Given the description of an element on the screen output the (x, y) to click on. 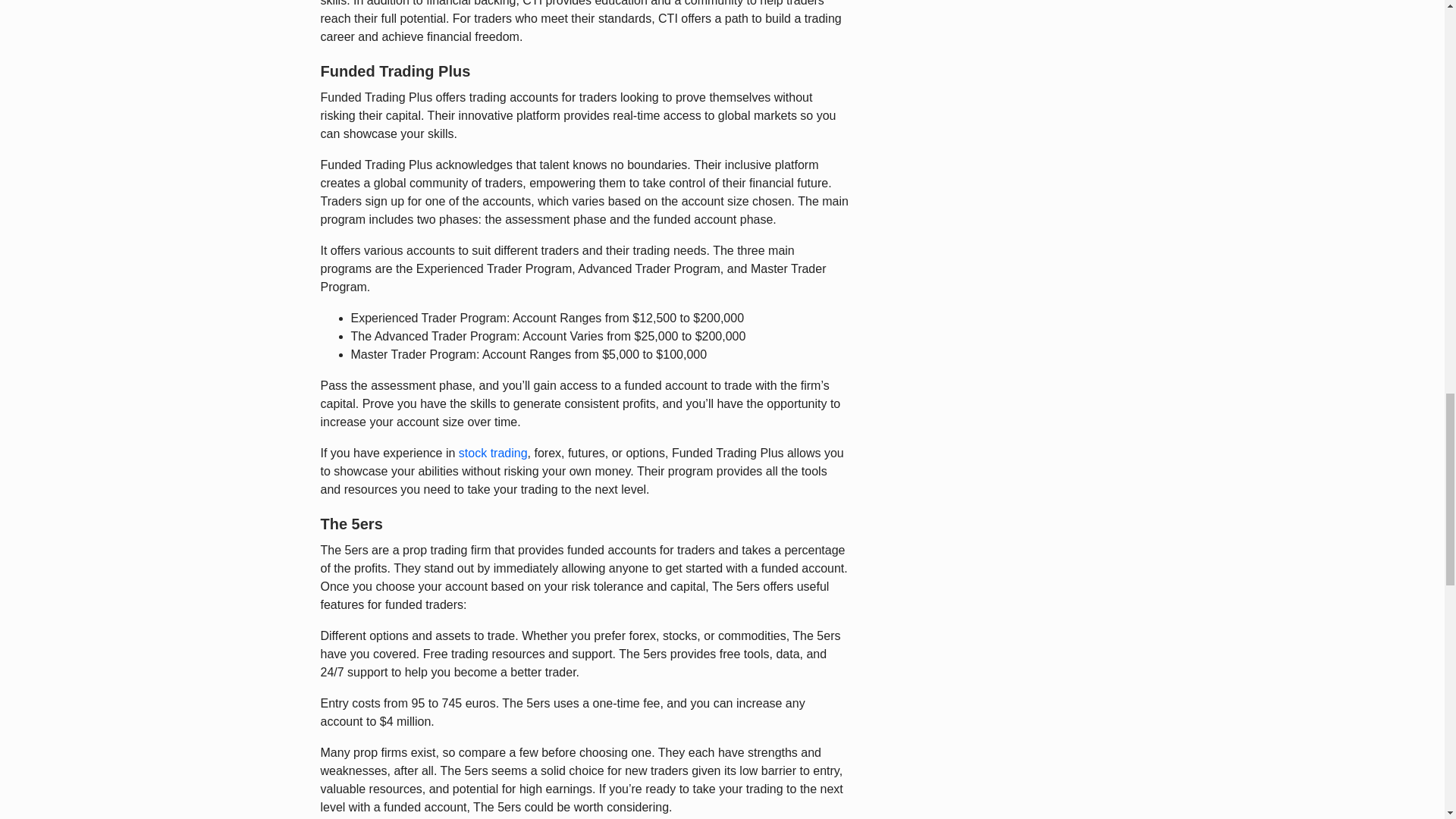
stock trading (492, 452)
